Given the description of an element on the screen output the (x, y) to click on. 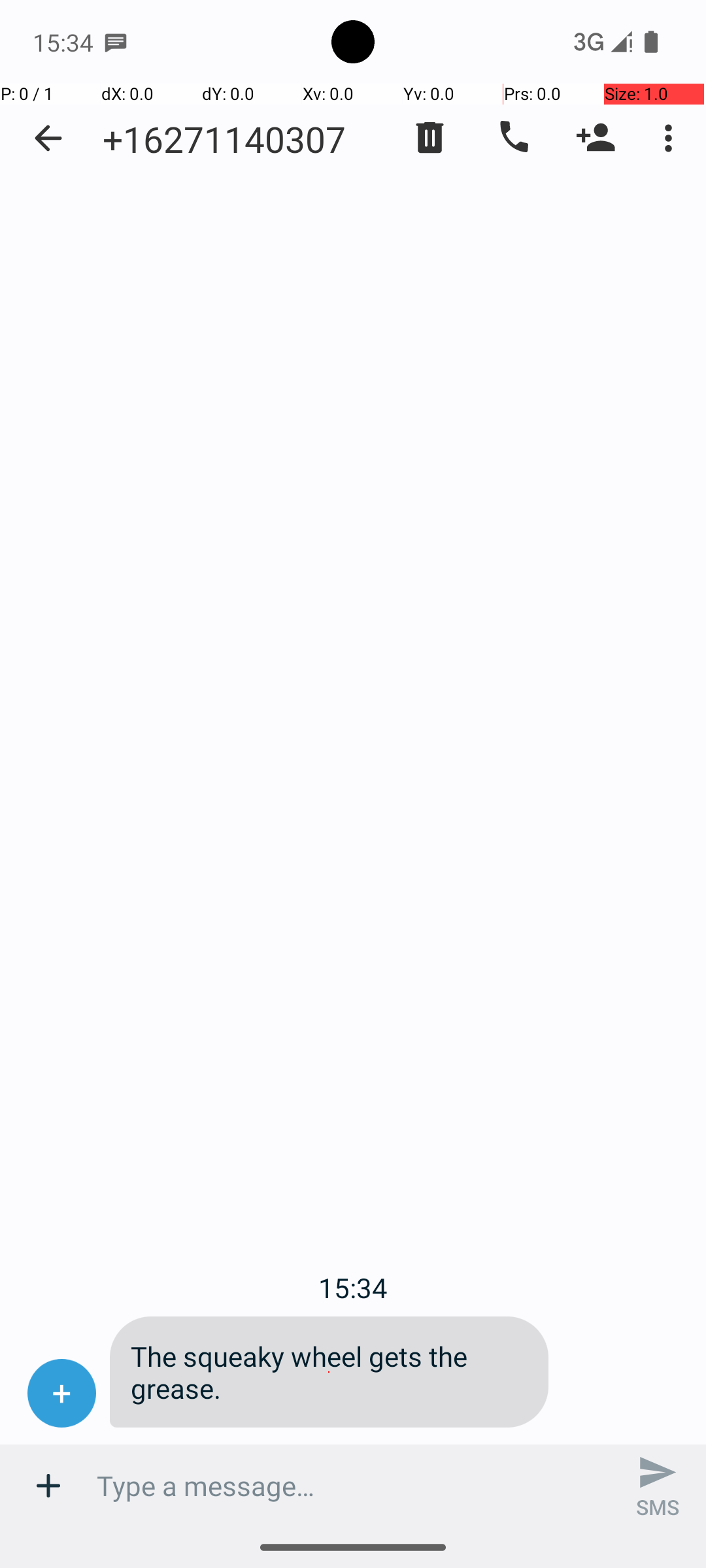
+16271140307 Element type: android.widget.TextView (223, 138)
Dial number Element type: android.widget.Button (512, 137)
Add Person Element type: android.widget.Button (595, 137)
Attachment Element type: android.widget.ImageView (48, 1485)
Type a message… Element type: android.widget.EditText (352, 1485)
SMS Element type: android.widget.Button (657, 1485)
The squeaky wheel gets the grease. Element type: android.widget.TextView (328, 1371)
